Given the description of an element on the screen output the (x, y) to click on. 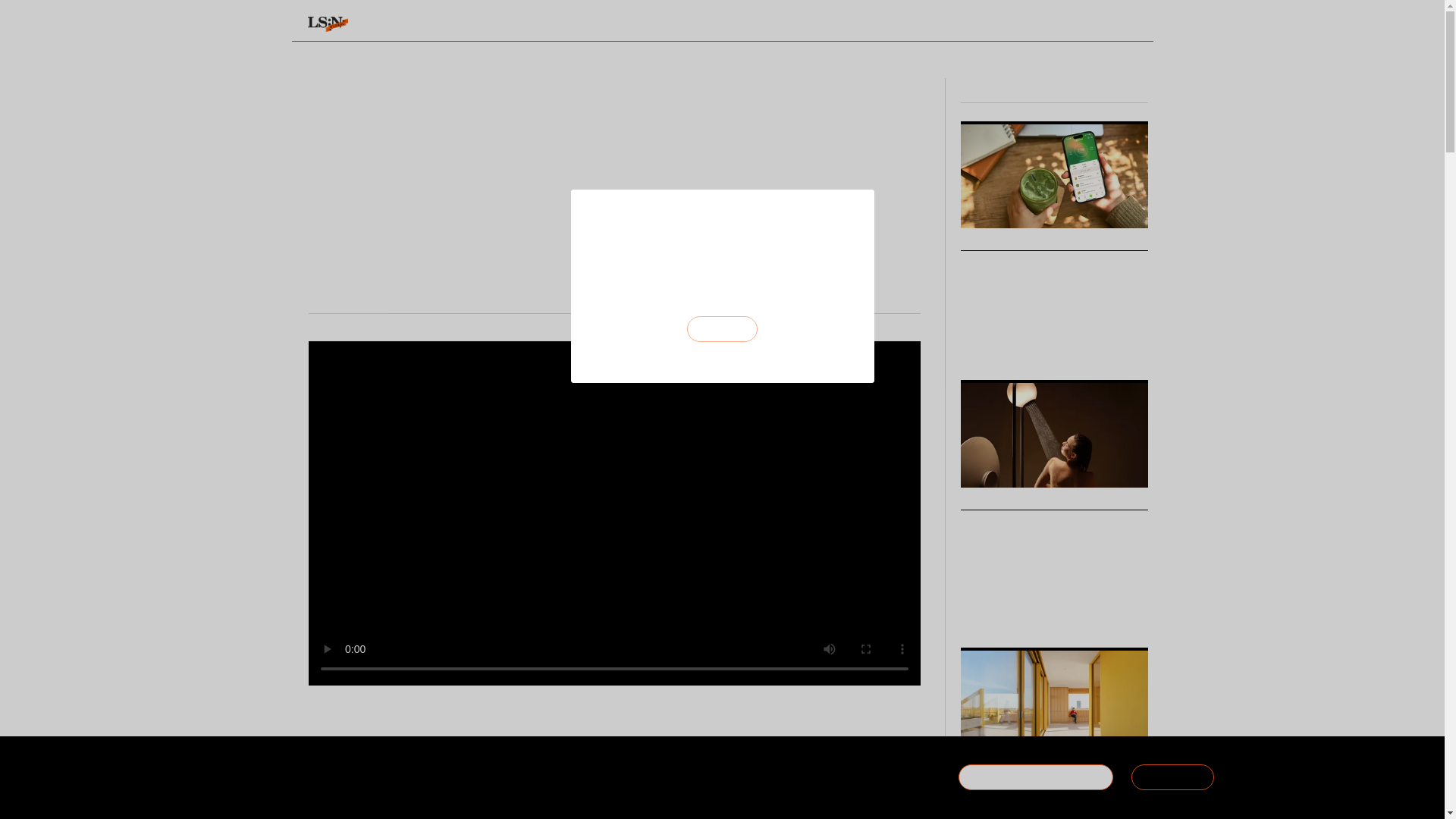
LS:N Global (327, 24)
Trends (573, 24)
BEHAVIOURS (478, 24)
News (392, 24)
NEWS (392, 24)
Behaviours (478, 24)
TRENDS (573, 24)
